Given the description of an element on the screen output the (x, y) to click on. 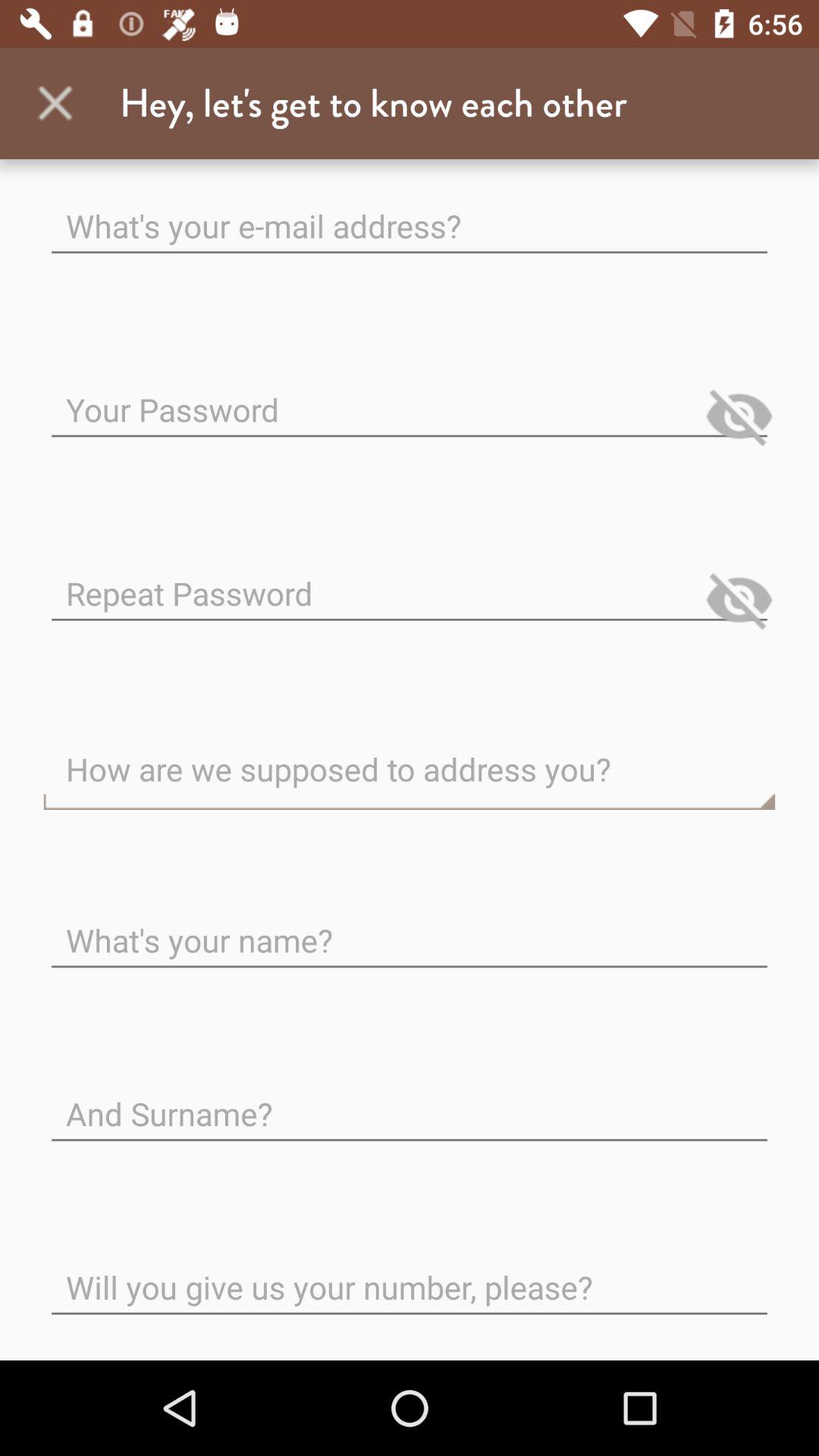
show passward option (739, 416)
